Given the description of an element on the screen output the (x, y) to click on. 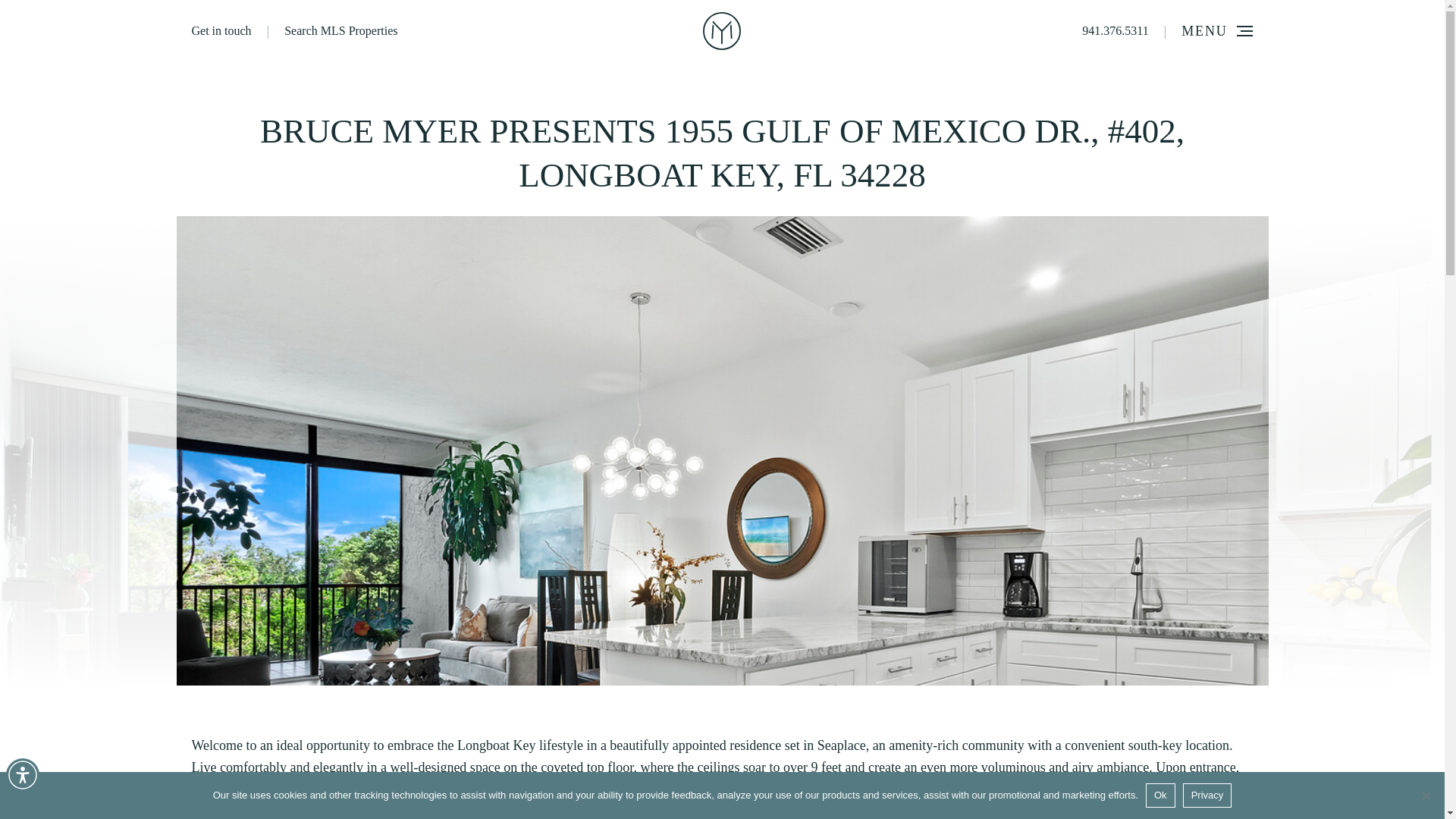
Ok (1159, 794)
Privacy (1206, 794)
Search MLS Properties (340, 30)
Get in touch (220, 30)
No (1425, 795)
941.376.5311 (1114, 30)
Accessibility Menu (22, 774)
